Given the description of an element on the screen output the (x, y) to click on. 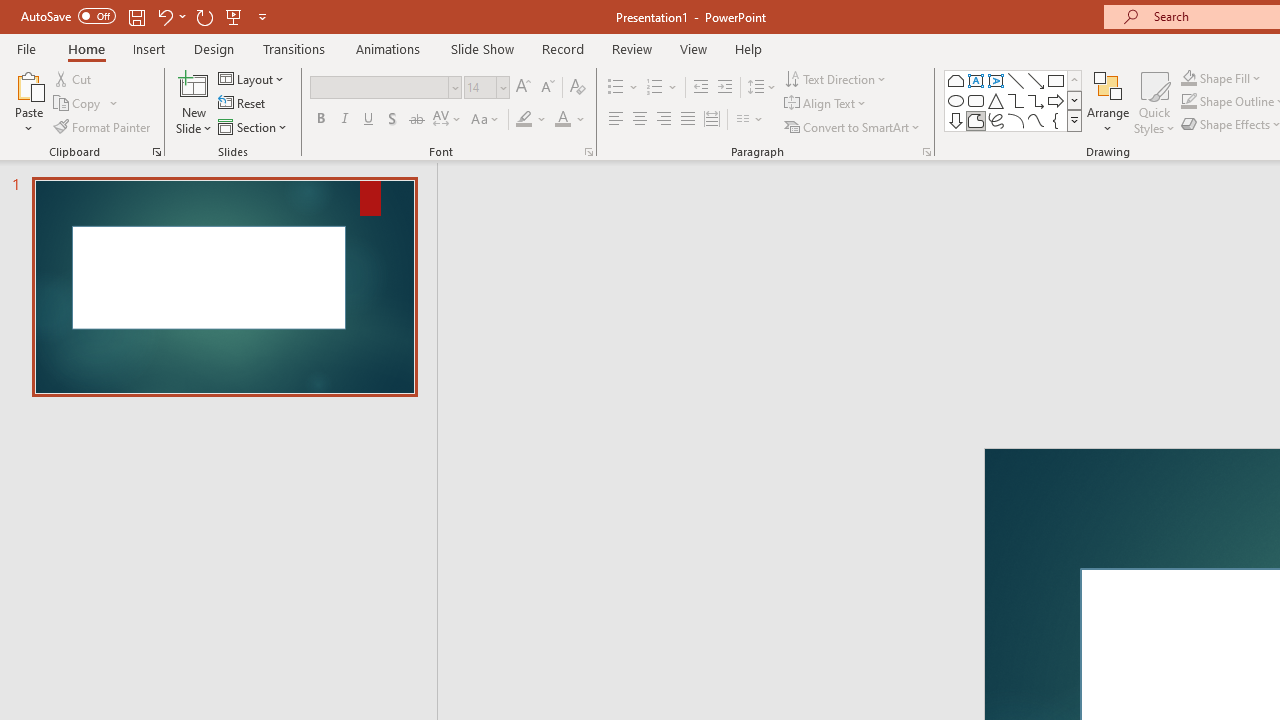
Open (502, 87)
Arrow: Right (1055, 100)
Arrange (1108, 102)
Arrow: Down (955, 120)
Office Clipboard... (156, 151)
Center (639, 119)
Columns (750, 119)
Oval (955, 100)
Row Down (1074, 100)
Shape Fill (1221, 78)
